Given the description of an element on the screen output the (x, y) to click on. 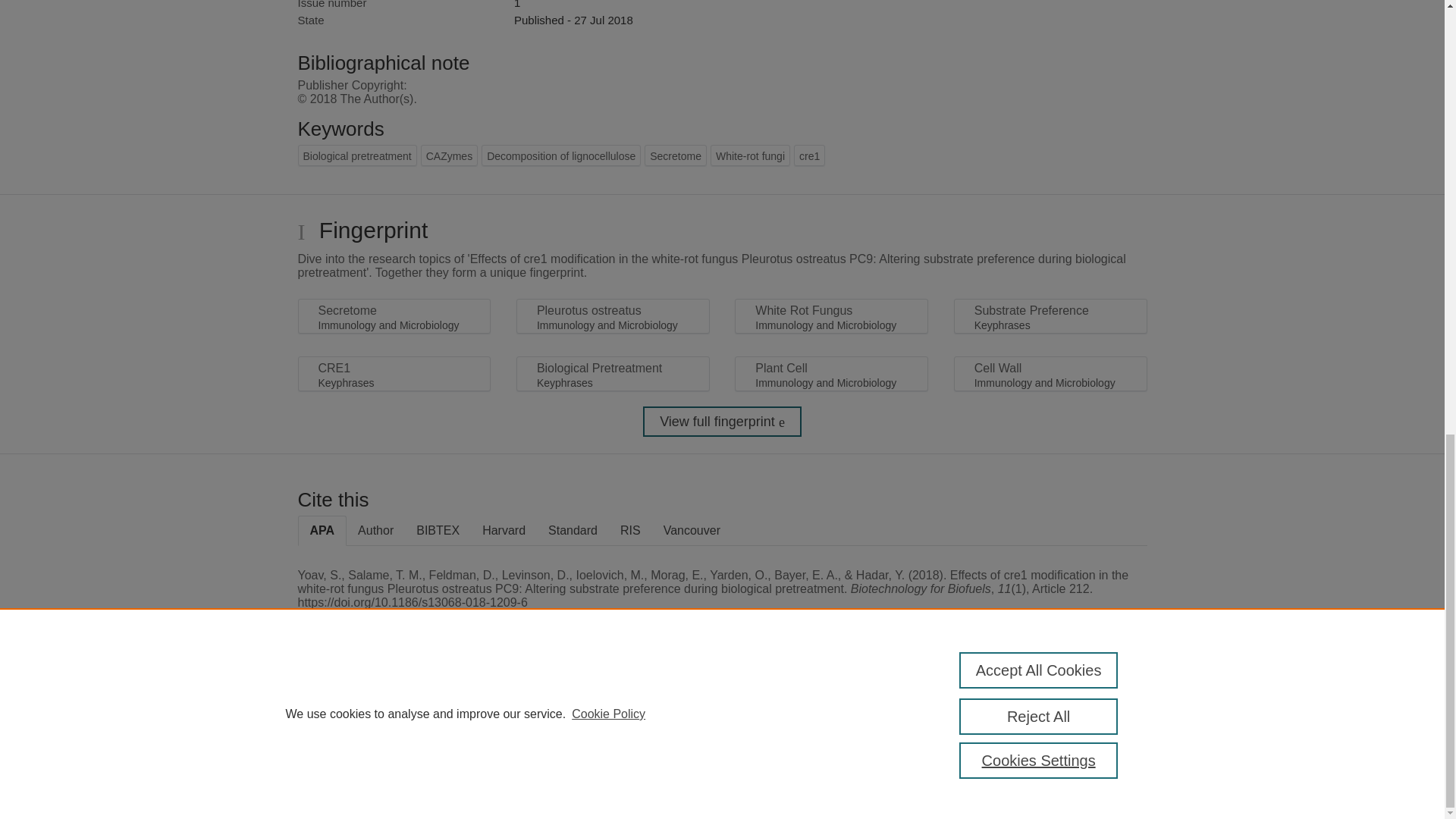
Scopus (394, 708)
View full fingerprint (722, 421)
Pure (362, 708)
About web accessibility (1088, 713)
Elsevier B.V. (506, 728)
use of cookies (796, 760)
Report vulnerability (1088, 745)
Cookies Settings (334, 781)
